Given the description of an element on the screen output the (x, y) to click on. 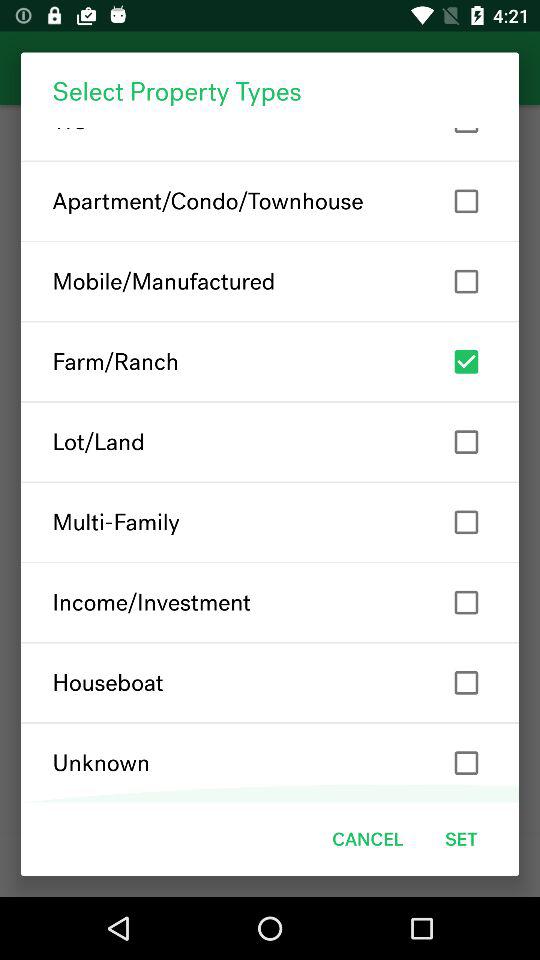
launch the multi-family icon (270, 522)
